Given the description of an element on the screen output the (x, y) to click on. 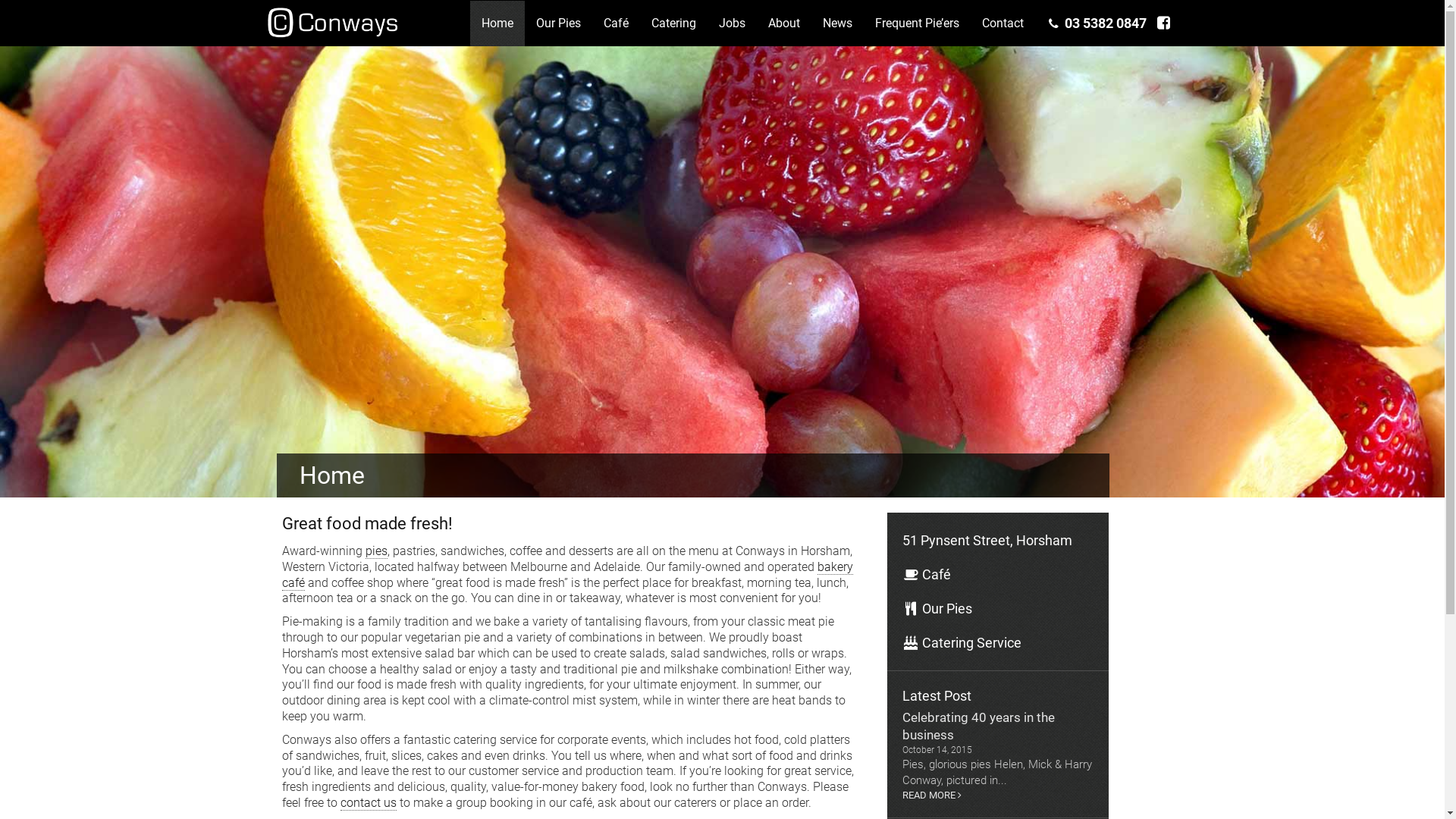
About Element type: text (783, 22)
READ MORE Element type: text (997, 795)
Contact Element type: text (1002, 22)
Our Pies Element type: text (558, 22)
03 5382 0847 Element type: text (1096, 22)
Catering Service Element type: text (997, 642)
contact us Element type: text (368, 802)
pies Element type: text (376, 550)
News Element type: text (837, 22)
Catering Element type: text (673, 22)
Our Pies Element type: text (997, 608)
Home Element type: text (497, 22)
Celebrating 40 years in the business Element type: text (997, 726)
Jobs Element type: text (731, 22)
